Given the description of an element on the screen output the (x, y) to click on. 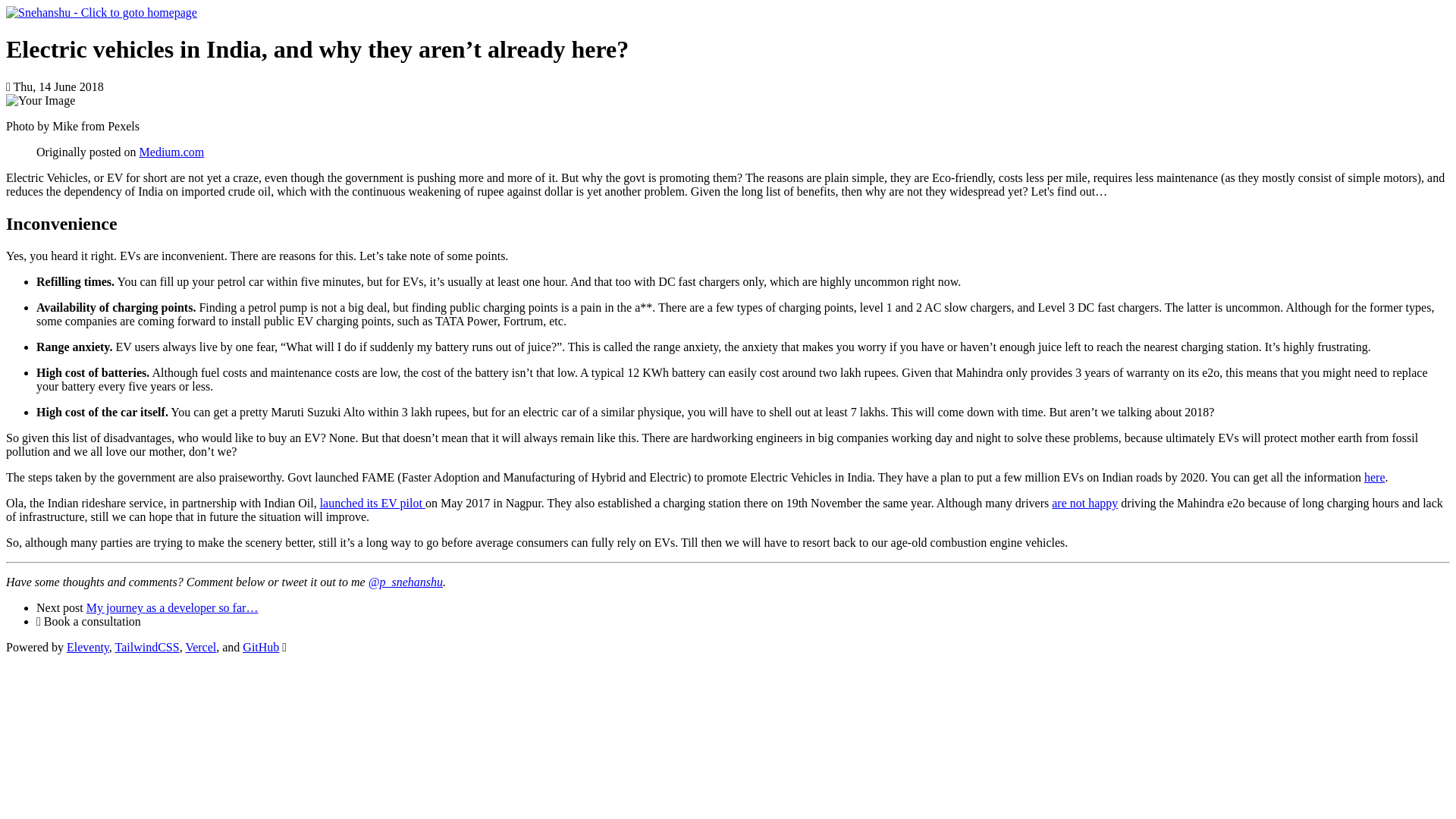
Vercel (199, 646)
launched its EV pilot (372, 502)
Medium.com (172, 151)
Eleventy (87, 646)
are not happy (1084, 502)
TailwindCSS (147, 646)
GitHub (261, 646)
Book a consultation (92, 621)
here (1375, 477)
